Given the description of an element on the screen output the (x, y) to click on. 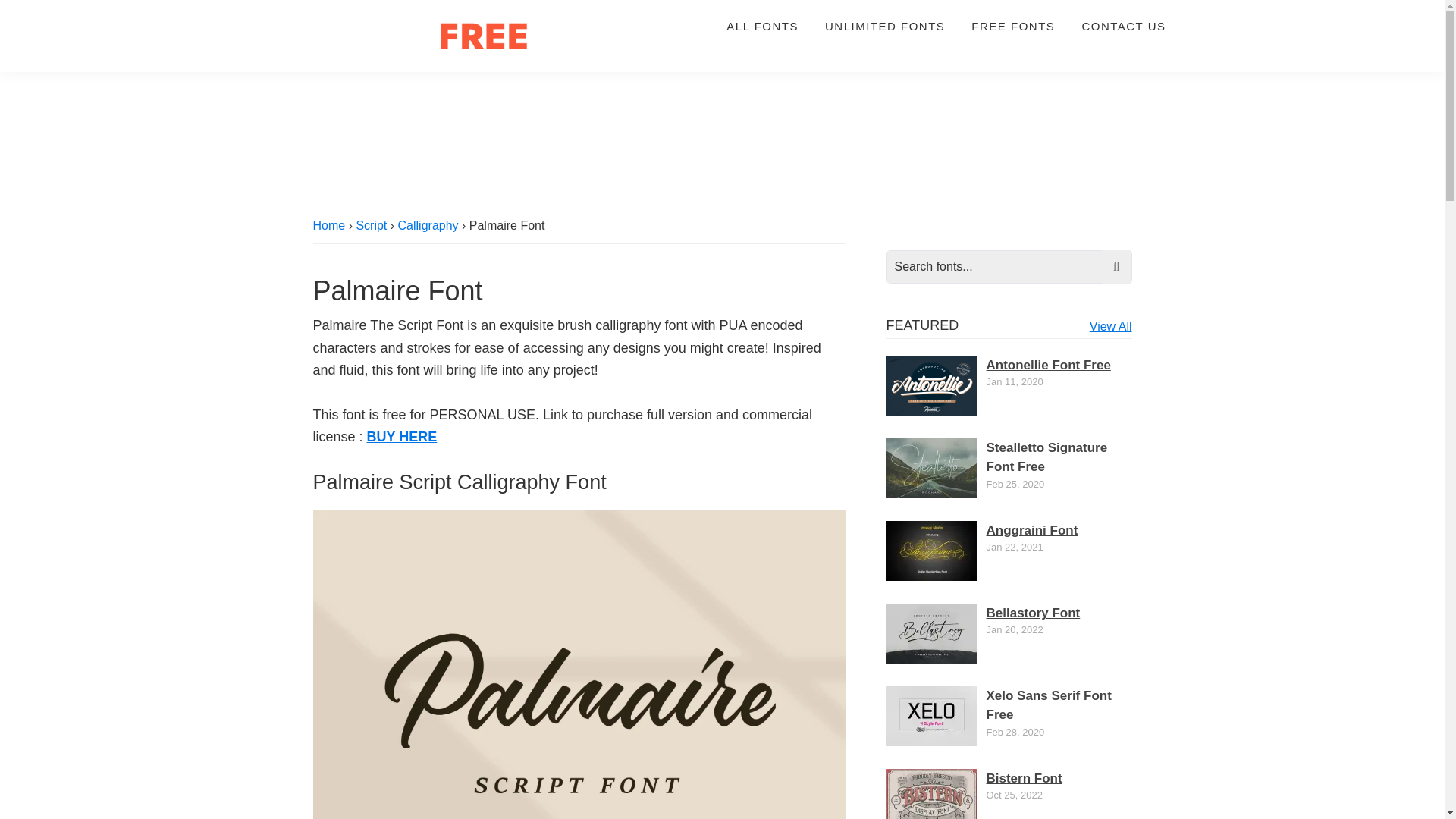
Home (329, 225)
Script (371, 225)
BUY HERE (402, 436)
Calligraphy (427, 225)
UNLIMITED FONTS (884, 25)
ALL FONTS (761, 25)
CONTACT US (1123, 25)
FREE FONTS (1012, 25)
